Given the description of an element on the screen output the (x, y) to click on. 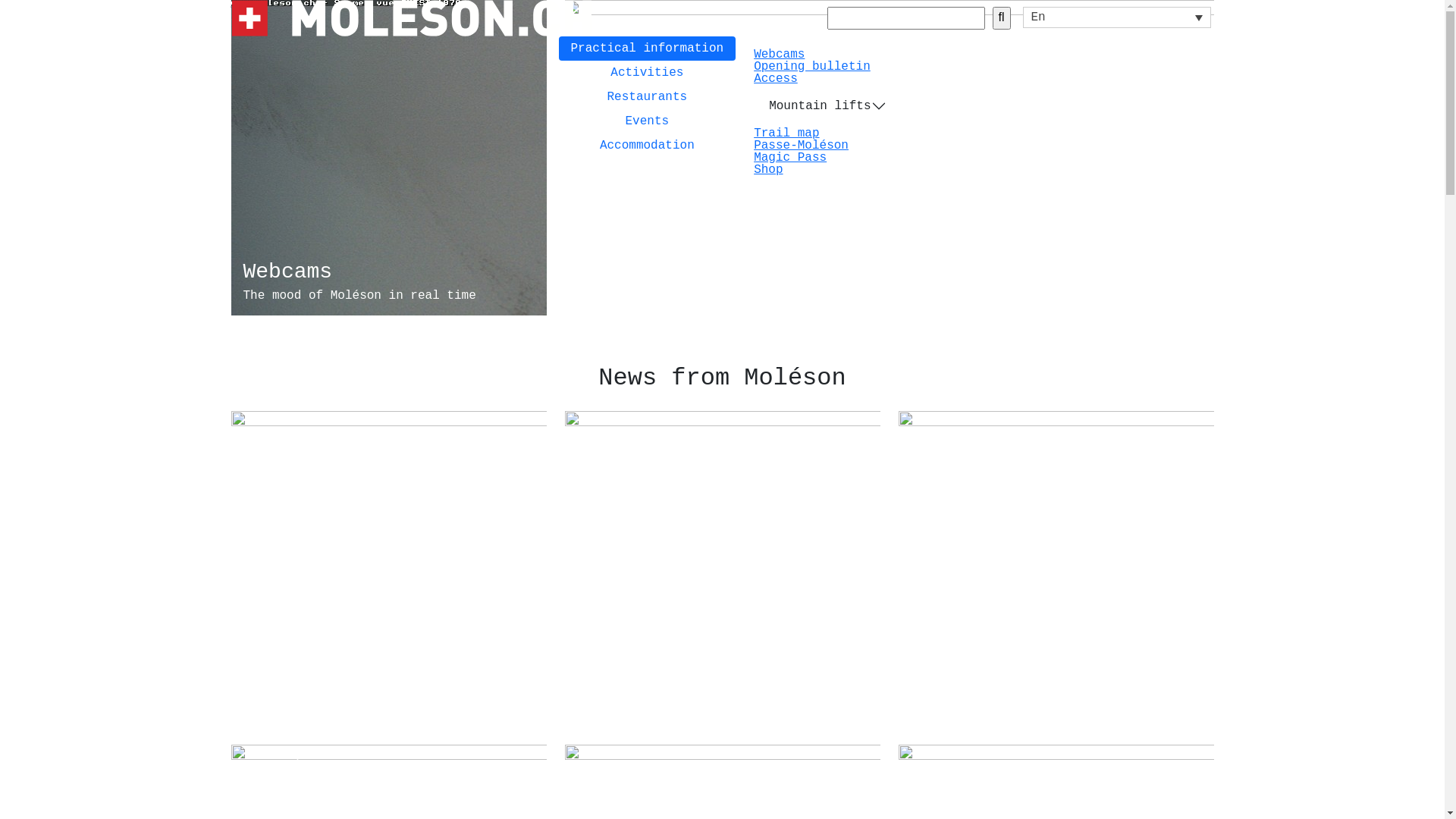
EVERY SATURDAY
Keep your little elves busy! Element type: text (721, 568)
OPEN EVERY WEEKEND
Consult the opening bulletin Element type: text (388, 568)
Practical information Element type: text (646, 48)
Webcams Element type: text (778, 54)
En Element type: text (1116, 17)
Opening bulletin Element type: text (811, 66)
Magic Pass Element type: text (789, 157)
Restaurants Element type: text (646, 96)
WINTER IS COMING
Book your ski lessons Element type: text (1055, 568)
Shop Element type: text (767, 169)
Accommodation Element type: text (646, 145)
Activities Element type: text (646, 72)
Events Element type: text (646, 121)
Trail map Element type: text (786, 133)
Access Element type: text (775, 78)
Mountain lifts Element type: text (826, 105)
